Given the description of an element on the screen output the (x, y) to click on. 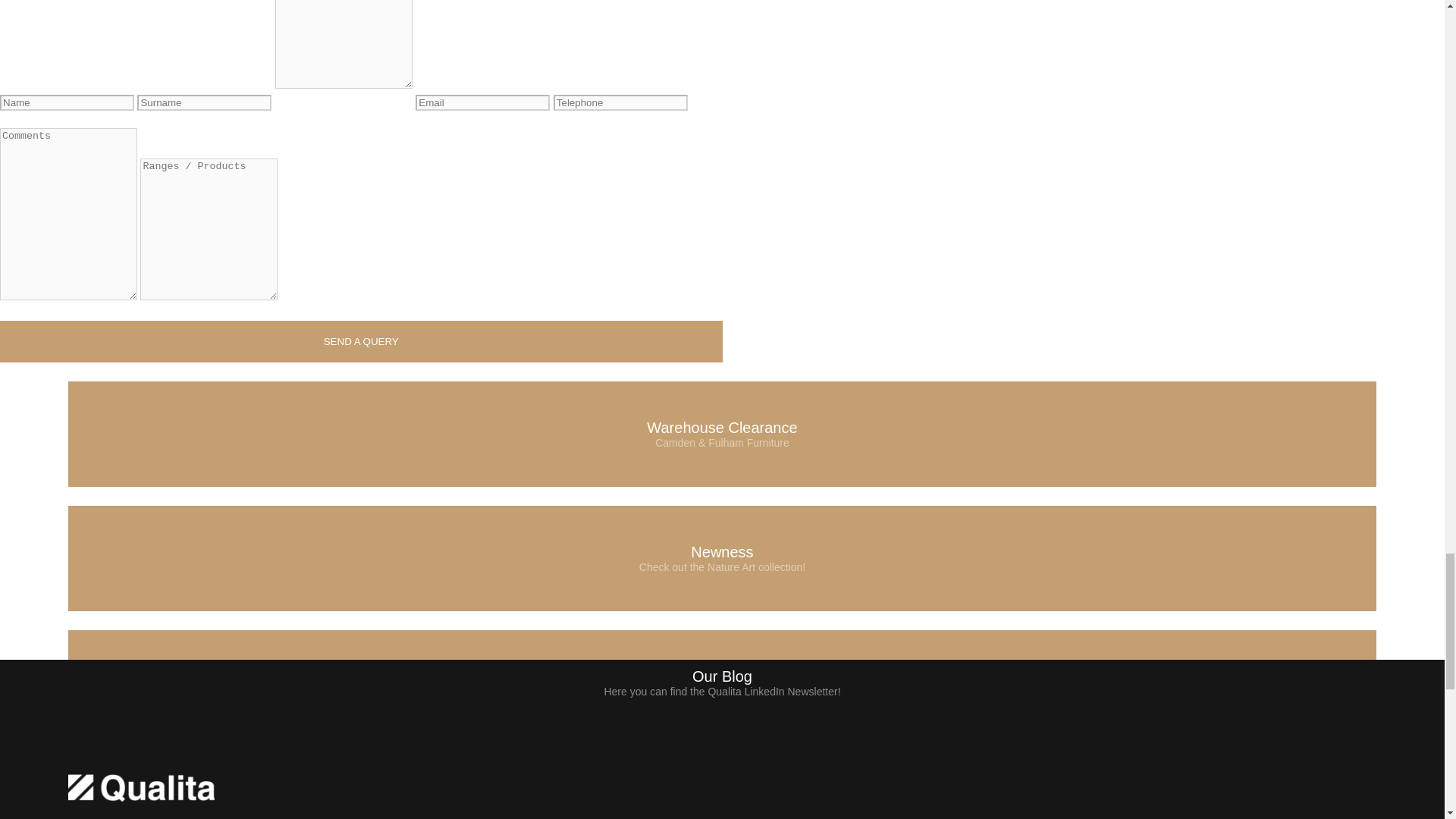
Send a query (361, 341)
